Given the description of an element on the screen output the (x, y) to click on. 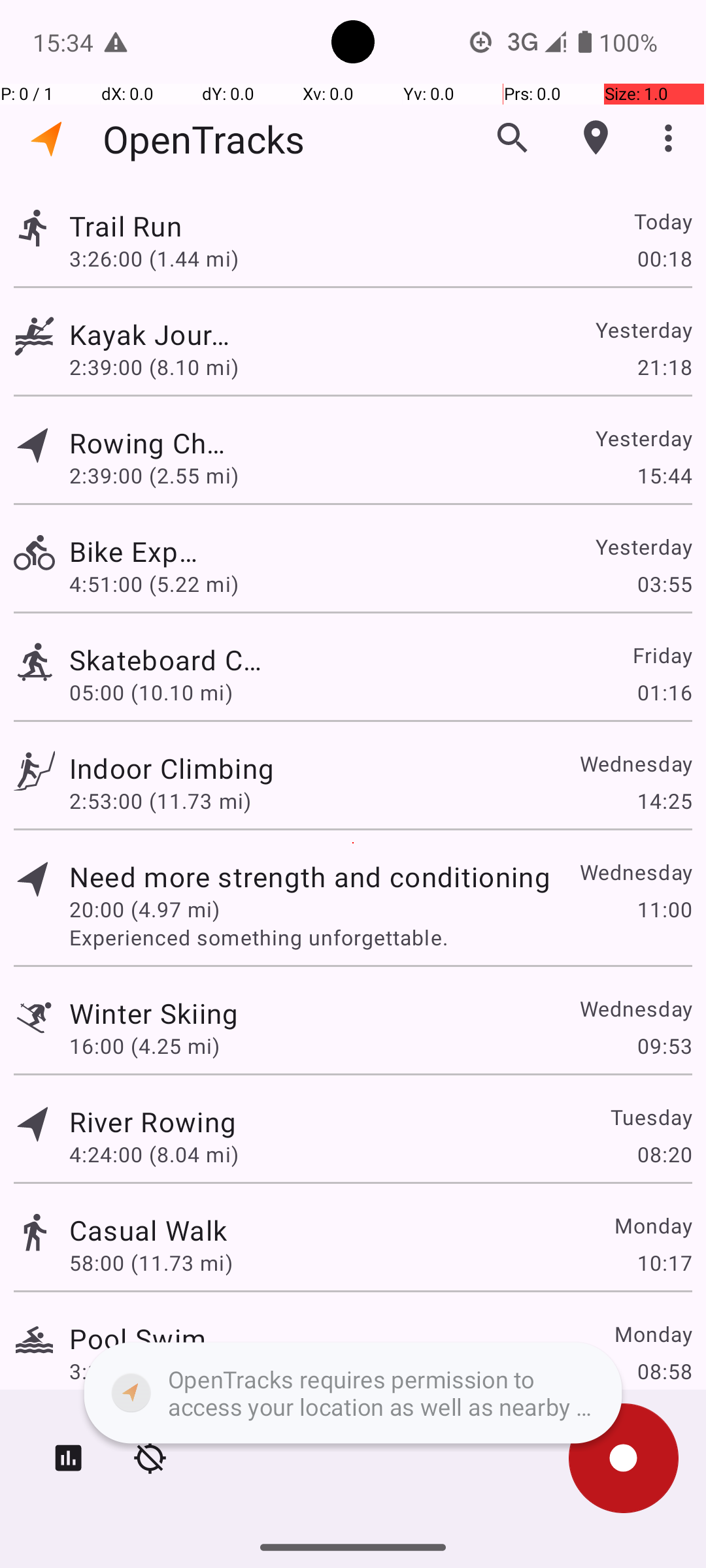
Trail Run Element type: android.widget.TextView (153, 225)
3:26:00 (1.44 mi) Element type: android.widget.TextView (153, 258)
00:18 Element type: android.widget.TextView (664, 258)
Kayak Journey Element type: android.widget.TextView (152, 333)
2:39:00 (8.10 mi) Element type: android.widget.TextView (153, 366)
21:18 Element type: android.widget.TextView (664, 366)
Rowing Challenge Element type: android.widget.TextView (147, 442)
2:39:00 (2.55 mi) Element type: android.widget.TextView (153, 475)
15:44 Element type: android.widget.TextView (664, 475)
Bike Expedition Element type: android.widget.TextView (137, 550)
4:51:00 (5.22 mi) Element type: android.widget.TextView (159, 583)
03:55 Element type: android.widget.TextView (664, 583)
Skateboard Challenge Element type: android.widget.TextView (172, 659)
05:00 (10.10 mi) Element type: android.widget.TextView (153, 692)
01:16 Element type: android.widget.TextView (664, 692)
Indoor Climbing Element type: android.widget.TextView (171, 767)
2:53:00 (11.73 mi) Element type: android.widget.TextView (159, 800)
14:25 Element type: android.widget.TextView (664, 800)
Need more strength and conditioning Element type: android.widget.TextView (309, 876)
20:00 (4.97 mi) Element type: android.widget.TextView (144, 909)
11:00 Element type: android.widget.TextView (664, 909)
Experienced something unforgettable. Element type: android.widget.TextView (380, 937)
Winter Skiing Element type: android.widget.TextView (153, 1012)
16:00 (4.25 mi) Element type: android.widget.TextView (144, 1045)
09:53 Element type: android.widget.TextView (664, 1045)
River Rowing Element type: android.widget.TextView (152, 1121)
4:24:00 (8.04 mi) Element type: android.widget.TextView (153, 1154)
08:20 Element type: android.widget.TextView (664, 1154)
Casual Walk Element type: android.widget.TextView (147, 1229)
58:00 (11.73 mi) Element type: android.widget.TextView (150, 1262)
10:17 Element type: android.widget.TextView (664, 1262)
Pool Swim Element type: android.widget.TextView (137, 1337)
3:16:00 (12.29 mi) Element type: android.widget.TextView (159, 1370)
08:58 Element type: android.widget.TextView (664, 1370)
